Given the description of an element on the screen output the (x, y) to click on. 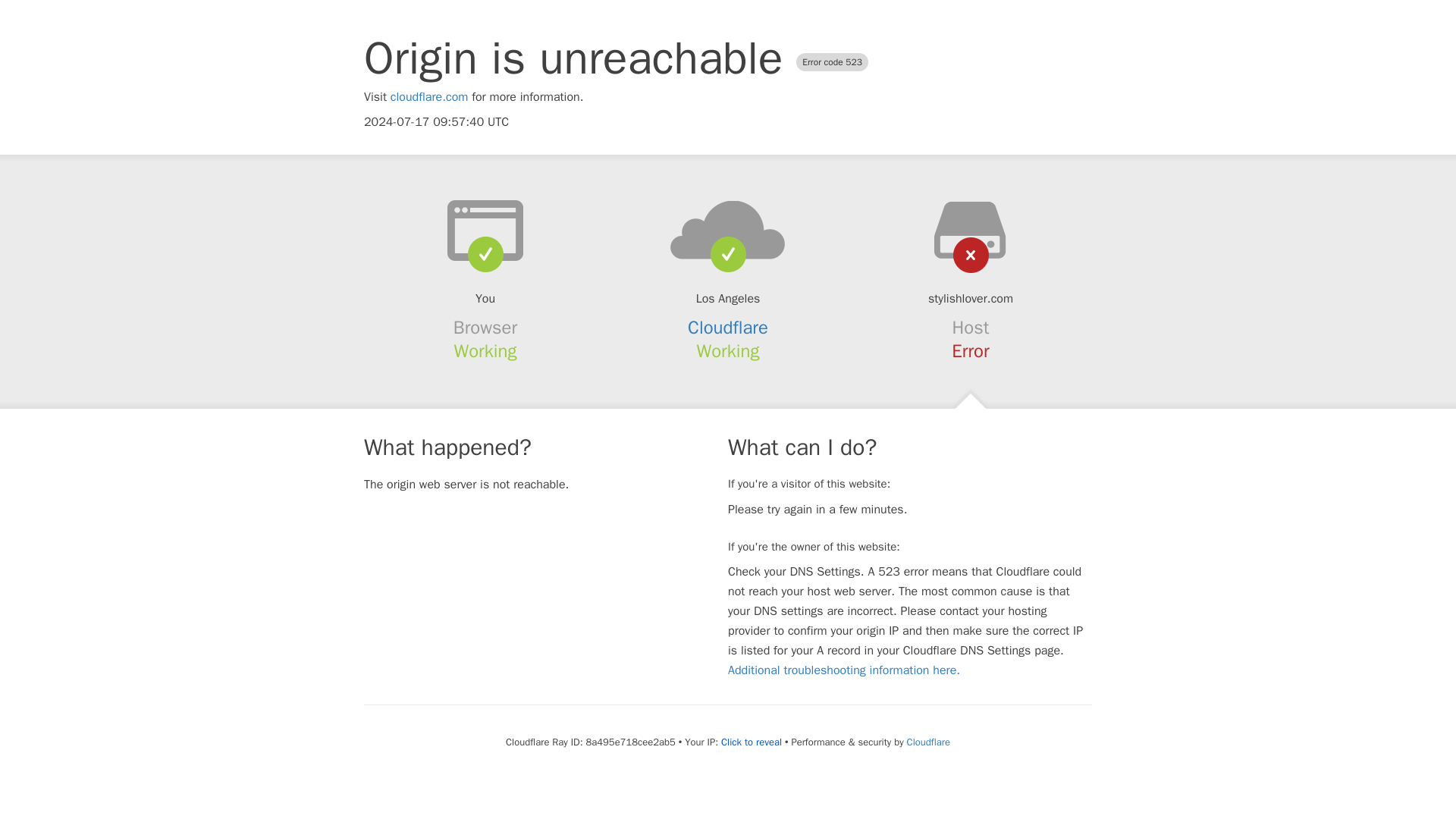
cloudflare.com (429, 96)
Cloudflare (727, 327)
Click to reveal (750, 742)
Additional troubleshooting information here. (843, 670)
Cloudflare (928, 741)
